Given the description of an element on the screen output the (x, y) to click on. 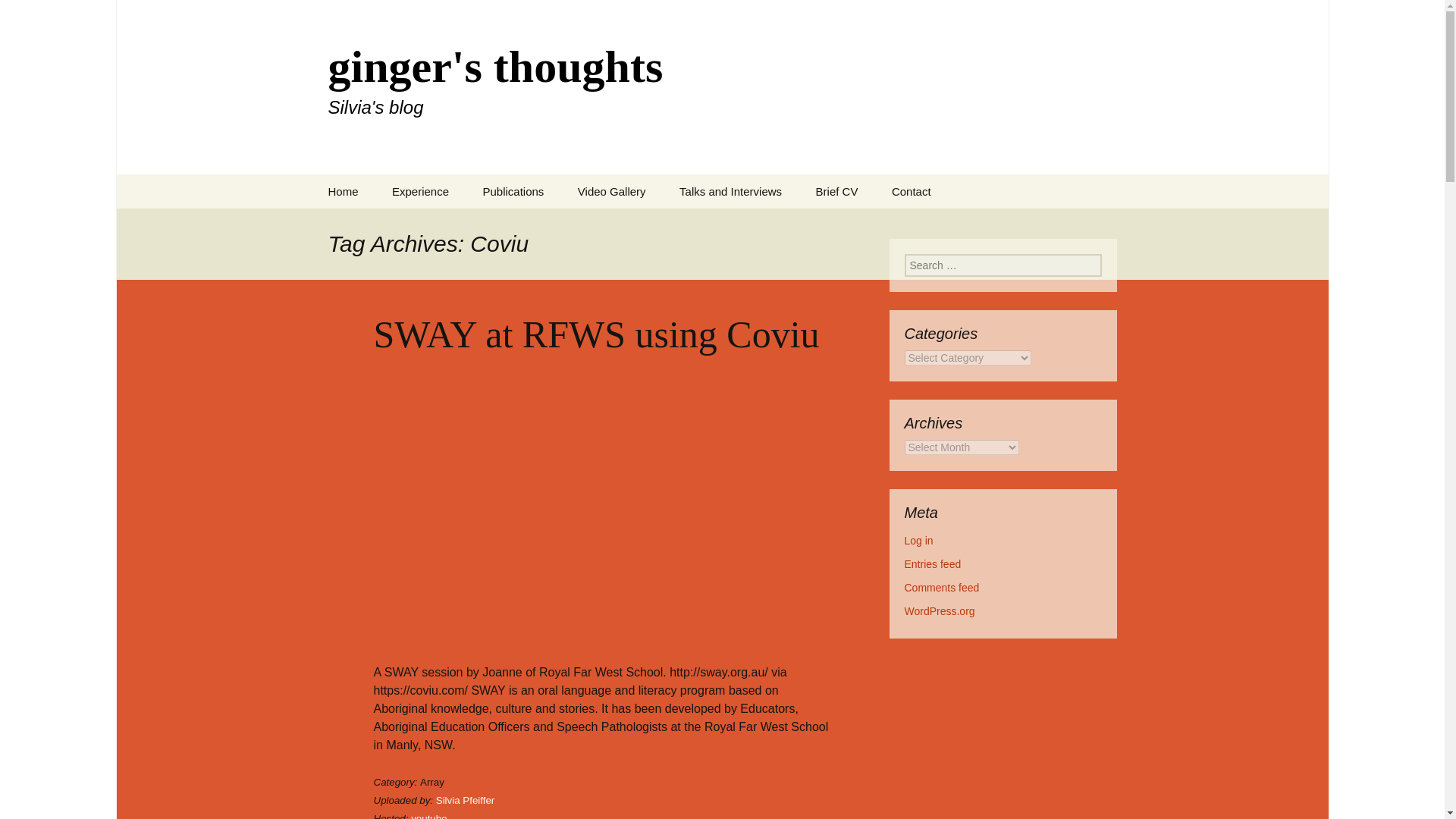
Silvia Pfeiffer (465, 799)
Brief CV (836, 191)
Talks and Interviews (729, 191)
Video Gallery (342, 191)
SWAY at RFWS using Coviu (611, 191)
Skip to content (595, 333)
youtube (513, 191)
